Given the description of an element on the screen output the (x, y) to click on. 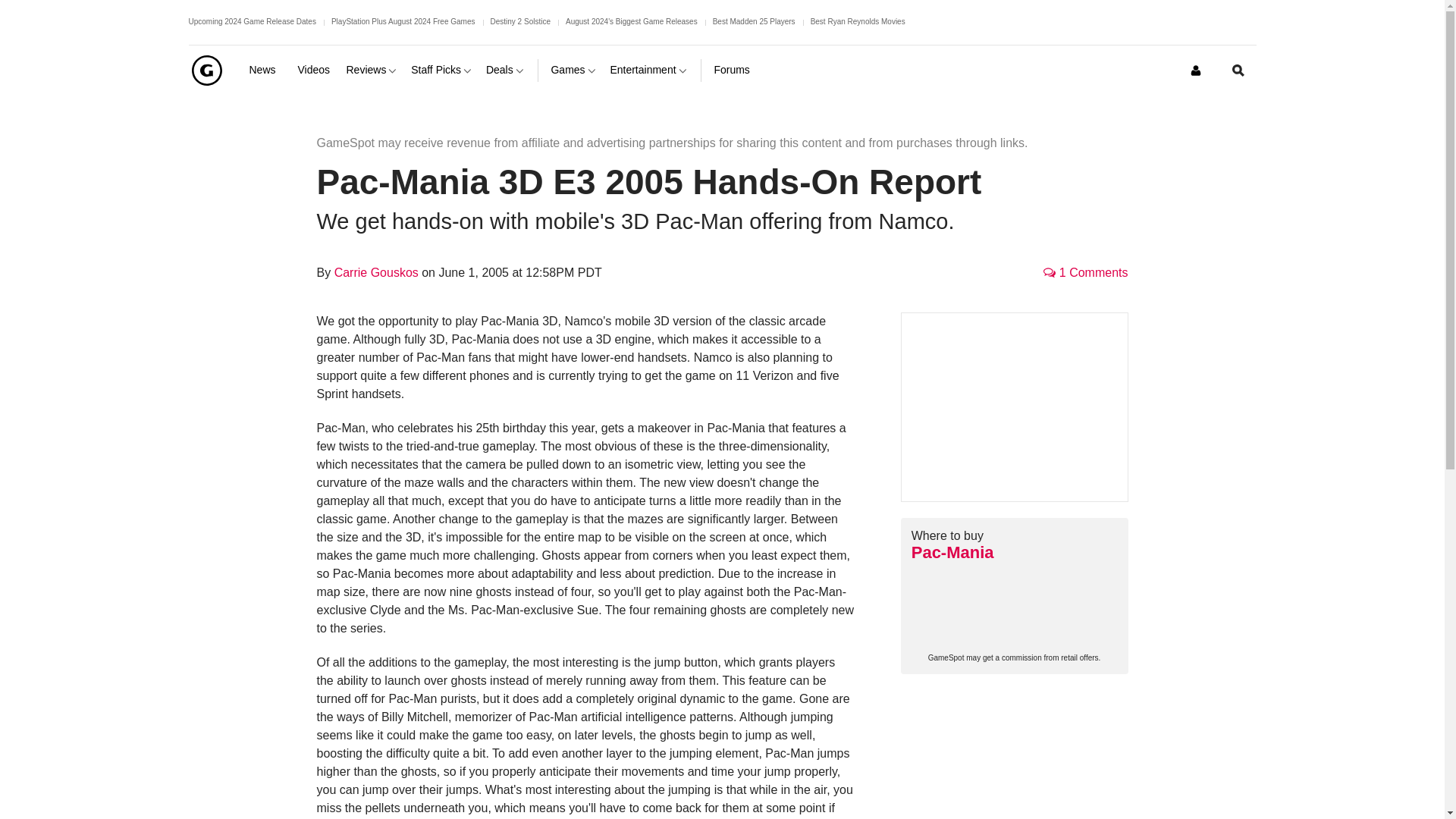
August 2024's Biggest Game Releases (631, 21)
News (266, 70)
Staff Picks (442, 70)
GameSpot (205, 70)
Games (573, 70)
PlayStation Plus August 2024 Free Games (403, 21)
Best Madden 25 Players (753, 21)
Destiny 2 Solstice (519, 21)
Upcoming 2024 Game Release Dates (251, 21)
Best Ryan Reynolds Movies (857, 21)
Deals (505, 70)
Videos (315, 70)
Reviews (372, 70)
